Given the description of an element on the screen output the (x, y) to click on. 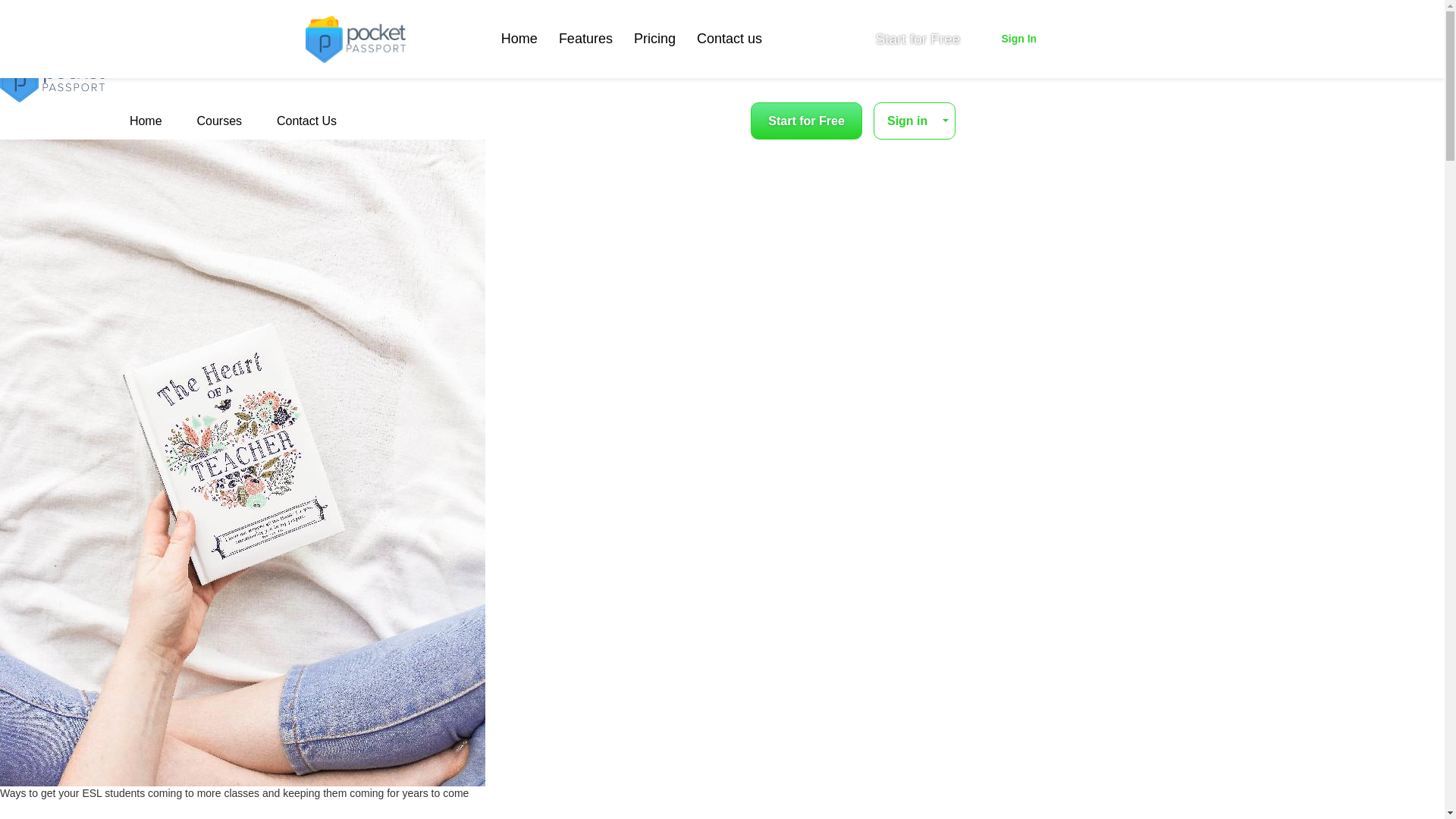
Start for Free (806, 120)
Contact us (729, 38)
Start for Free (917, 38)
Home (519, 38)
Home (145, 120)
Sign in (914, 120)
Sign In (1018, 38)
Pricing (654, 38)
Courses (218, 120)
Features (585, 38)
